Given the description of an element on the screen output the (x, y) to click on. 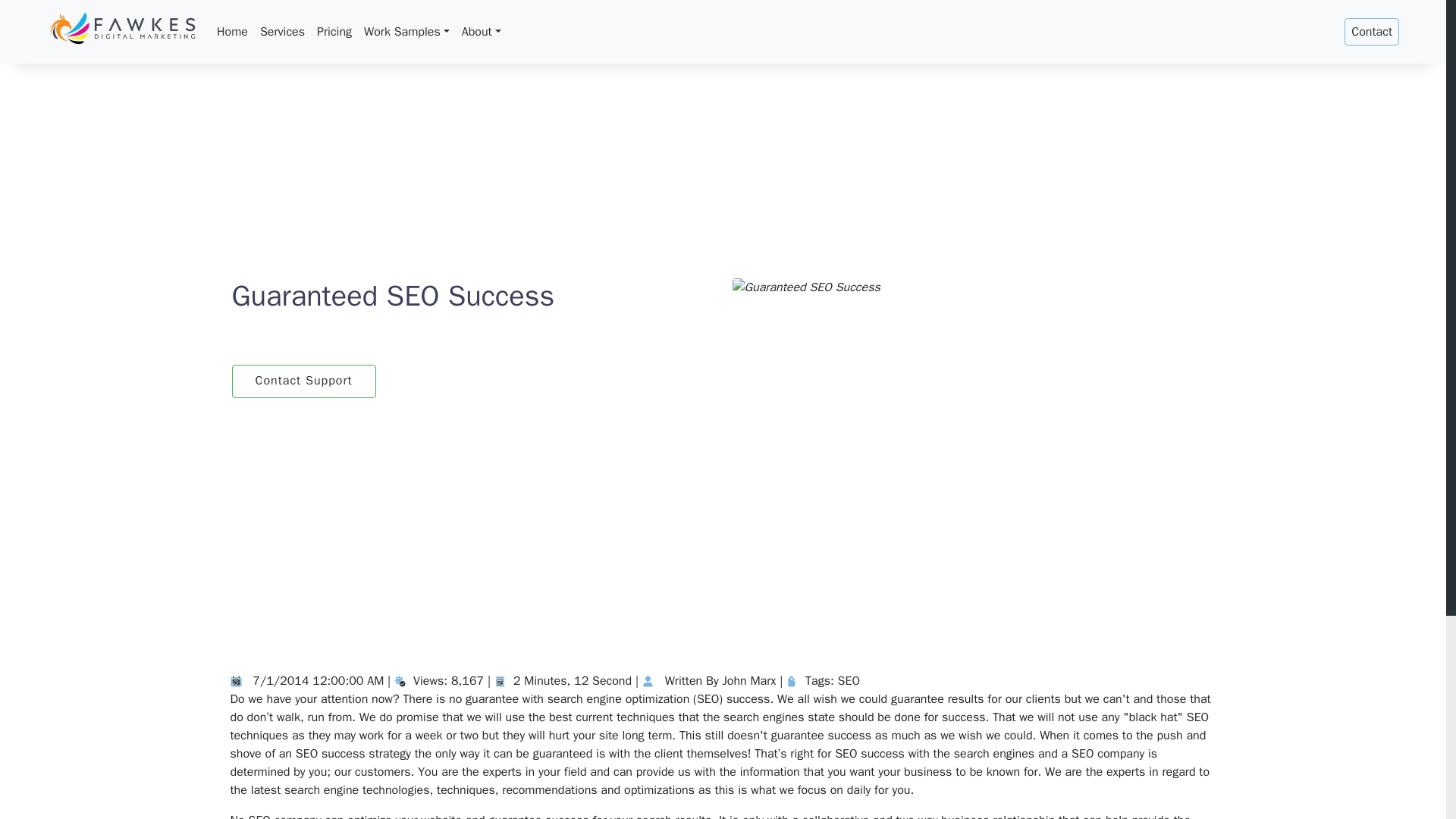
Contact (1371, 31)
Services (282, 31)
Home (232, 31)
About (480, 31)
Pricing (334, 31)
Contact Support (303, 381)
SEO (849, 680)
Work Samples (406, 31)
Contact Support (303, 381)
